Given the description of an element on the screen output the (x, y) to click on. 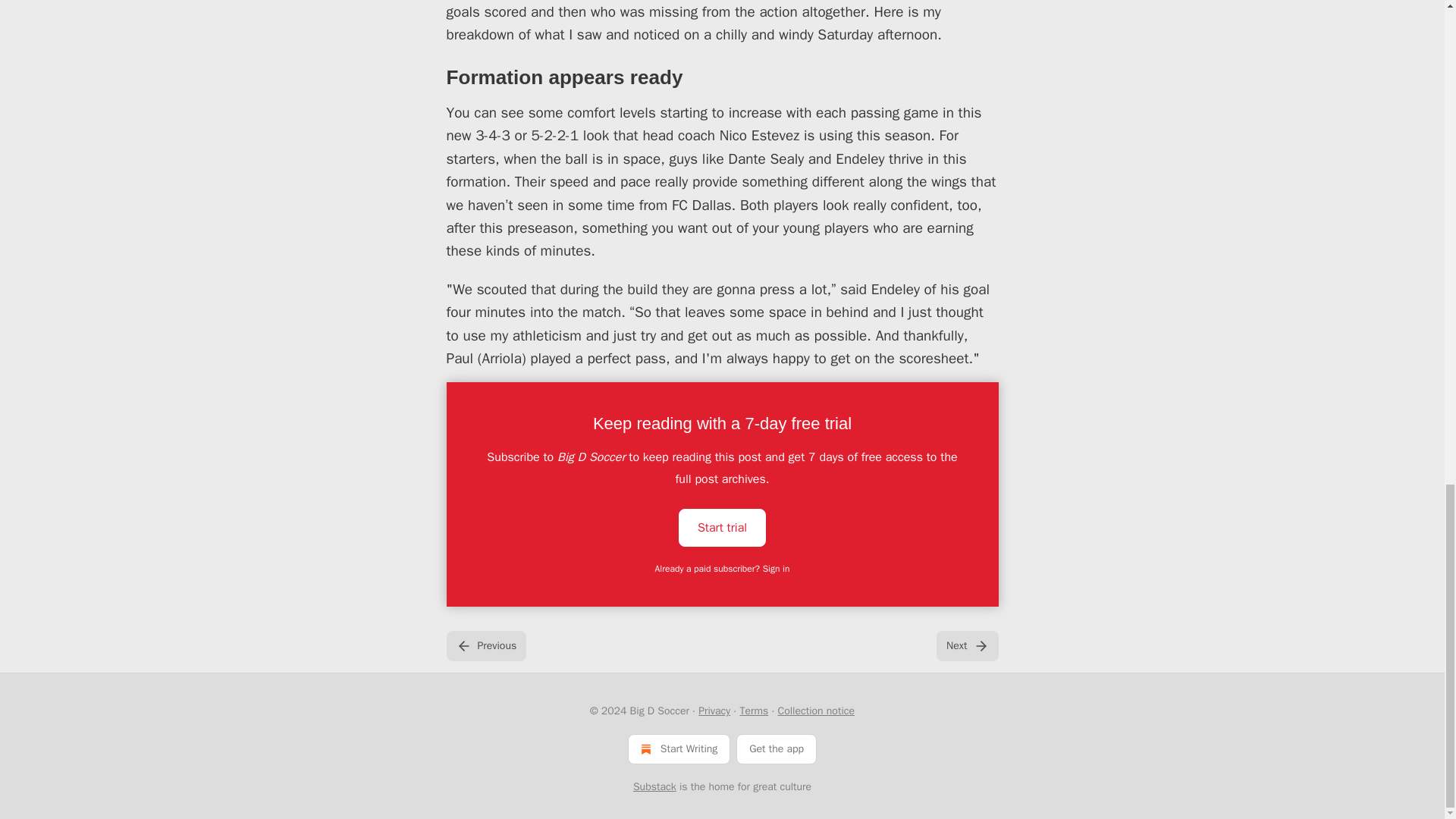
Privacy (714, 710)
Terms (753, 710)
Next (966, 645)
Start Writing (678, 748)
Collection notice (815, 710)
Start trial (721, 527)
Start trial (721, 526)
Substack (655, 786)
Already a paid subscriber? Sign in (722, 568)
Previous (485, 645)
